Given the description of an element on the screen output the (x, y) to click on. 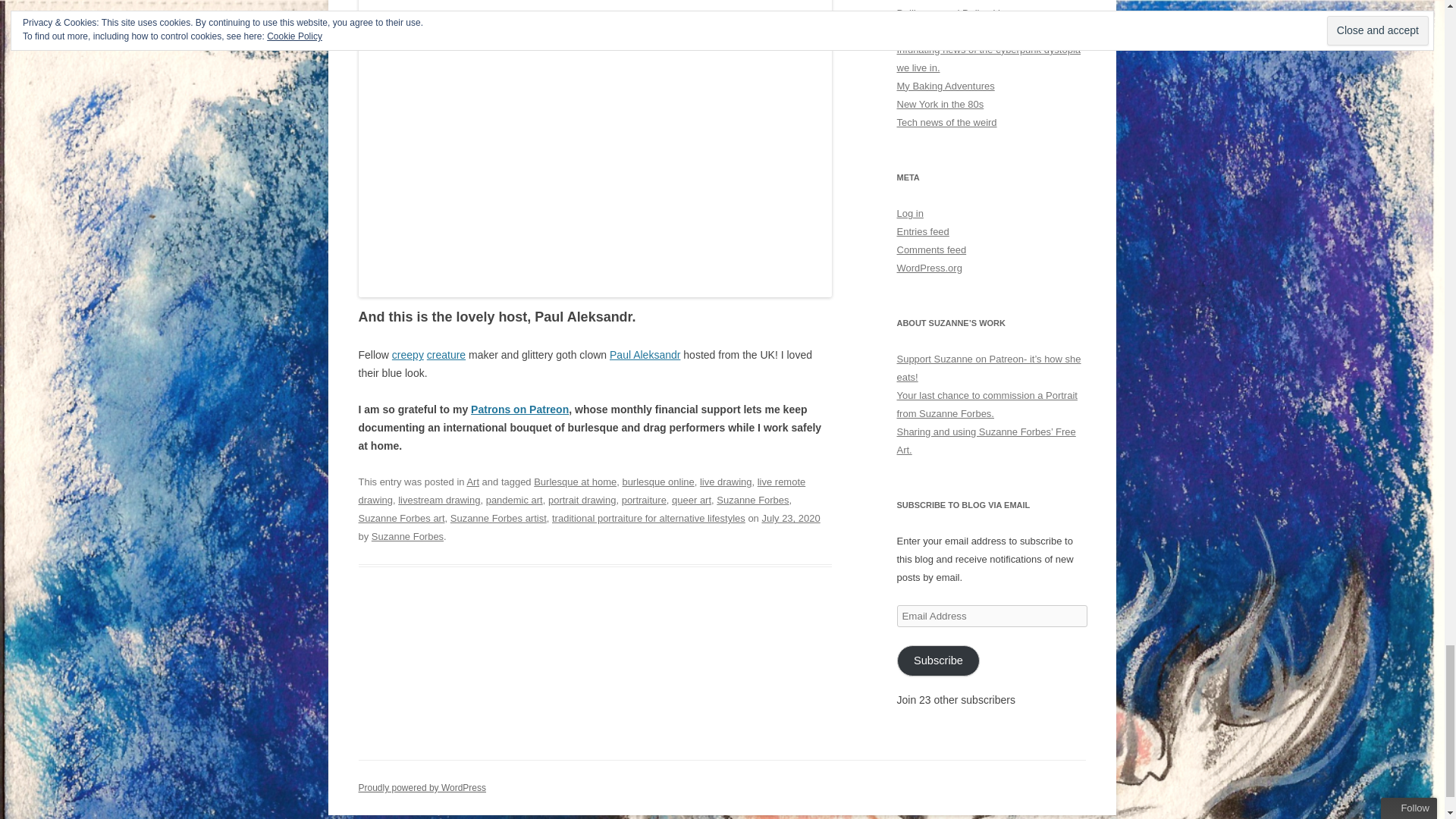
Suzanne Forbes artist (498, 518)
Art (472, 481)
Suzanne Forbes (752, 500)
Suzanne Forbes art (401, 518)
live remote drawing (581, 490)
pandemic art (514, 500)
Burlesque at home (574, 481)
11:48 pm (790, 518)
portraiture (643, 500)
portrait drawing (581, 500)
